Given the description of an element on the screen output the (x, y) to click on. 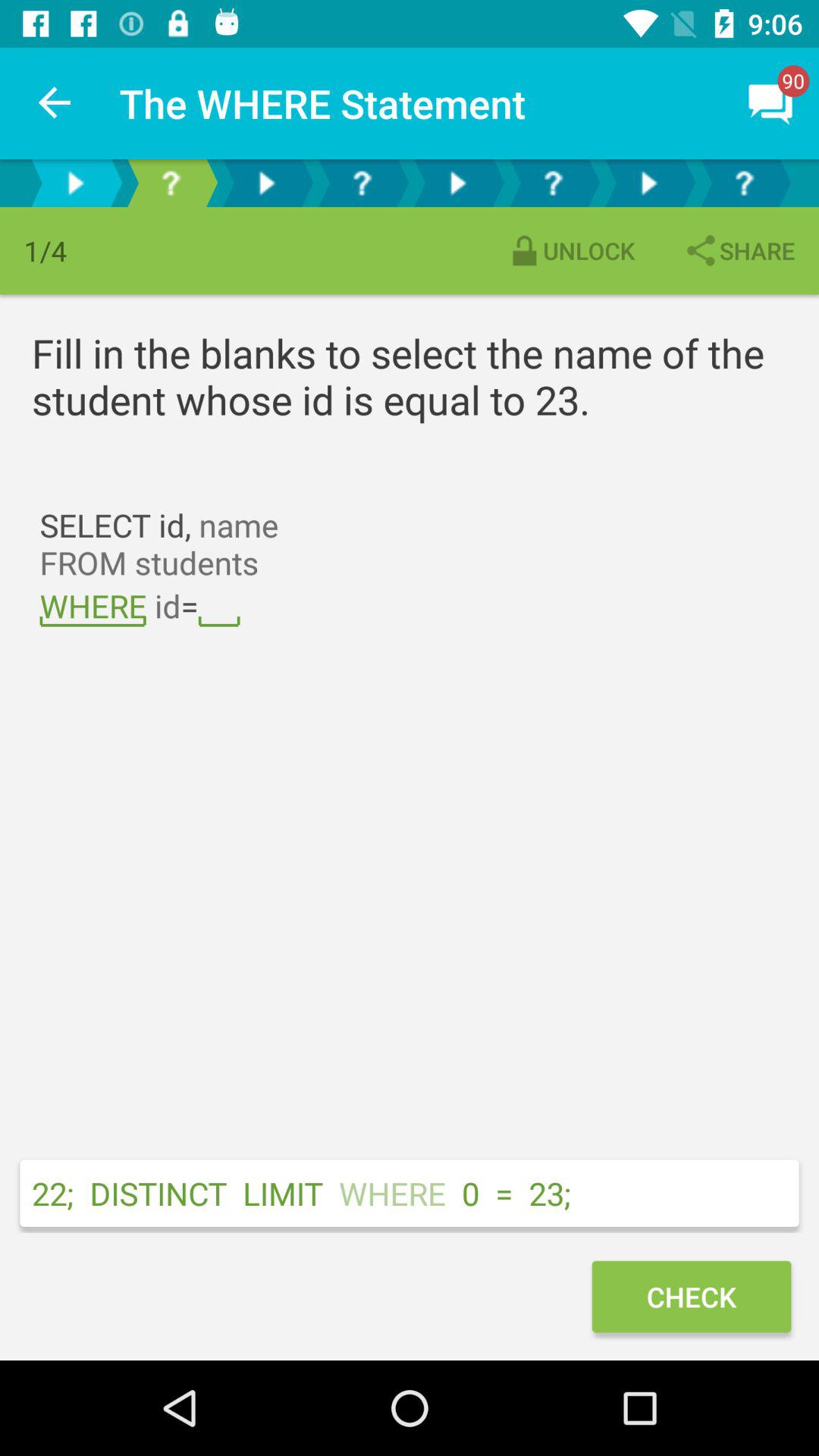
goes to the next page (648, 183)
